Given the description of an element on the screen output the (x, y) to click on. 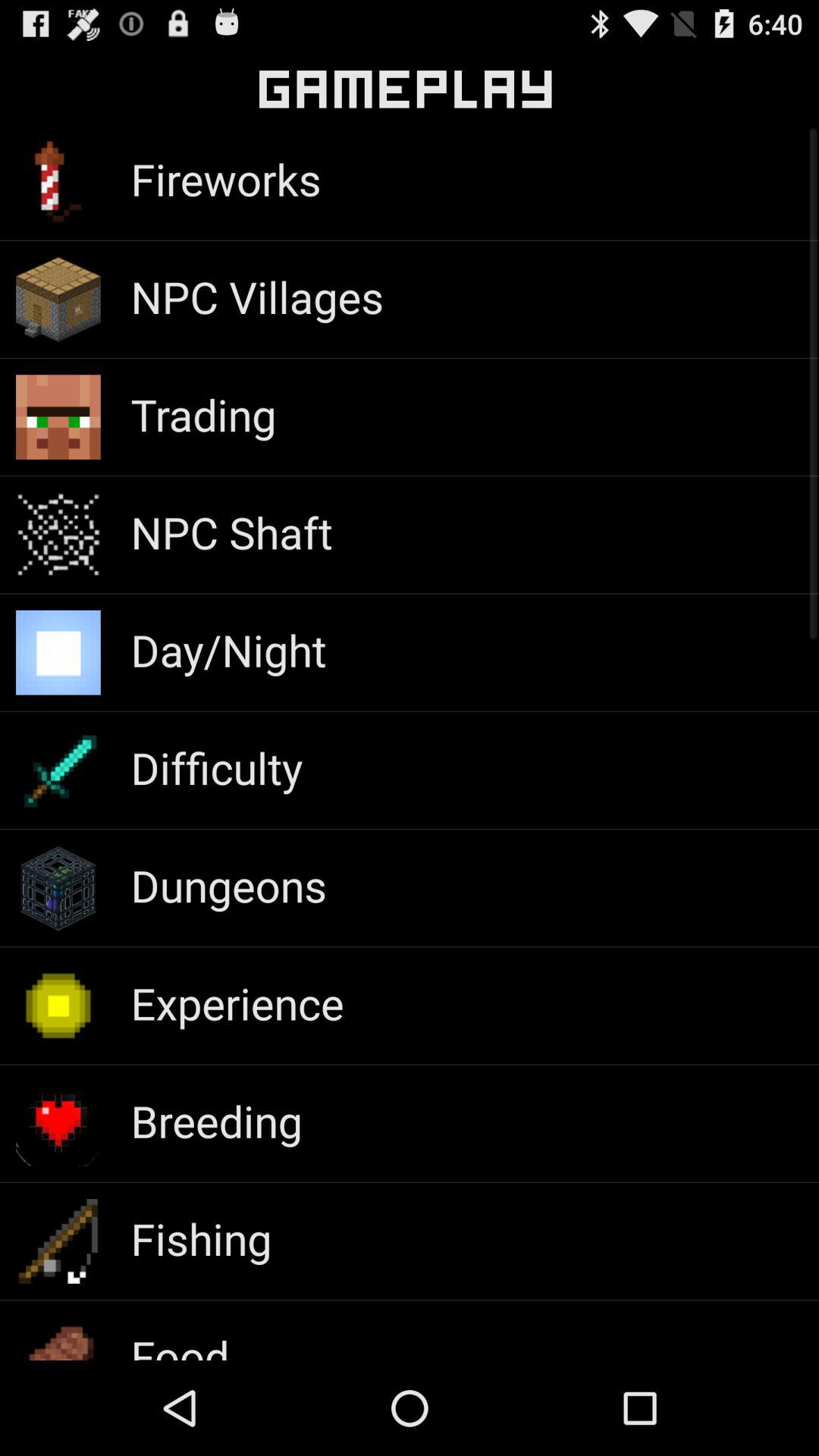
turn off the icon below the fishing icon (179, 1343)
